Given the description of an element on the screen output the (x, y) to click on. 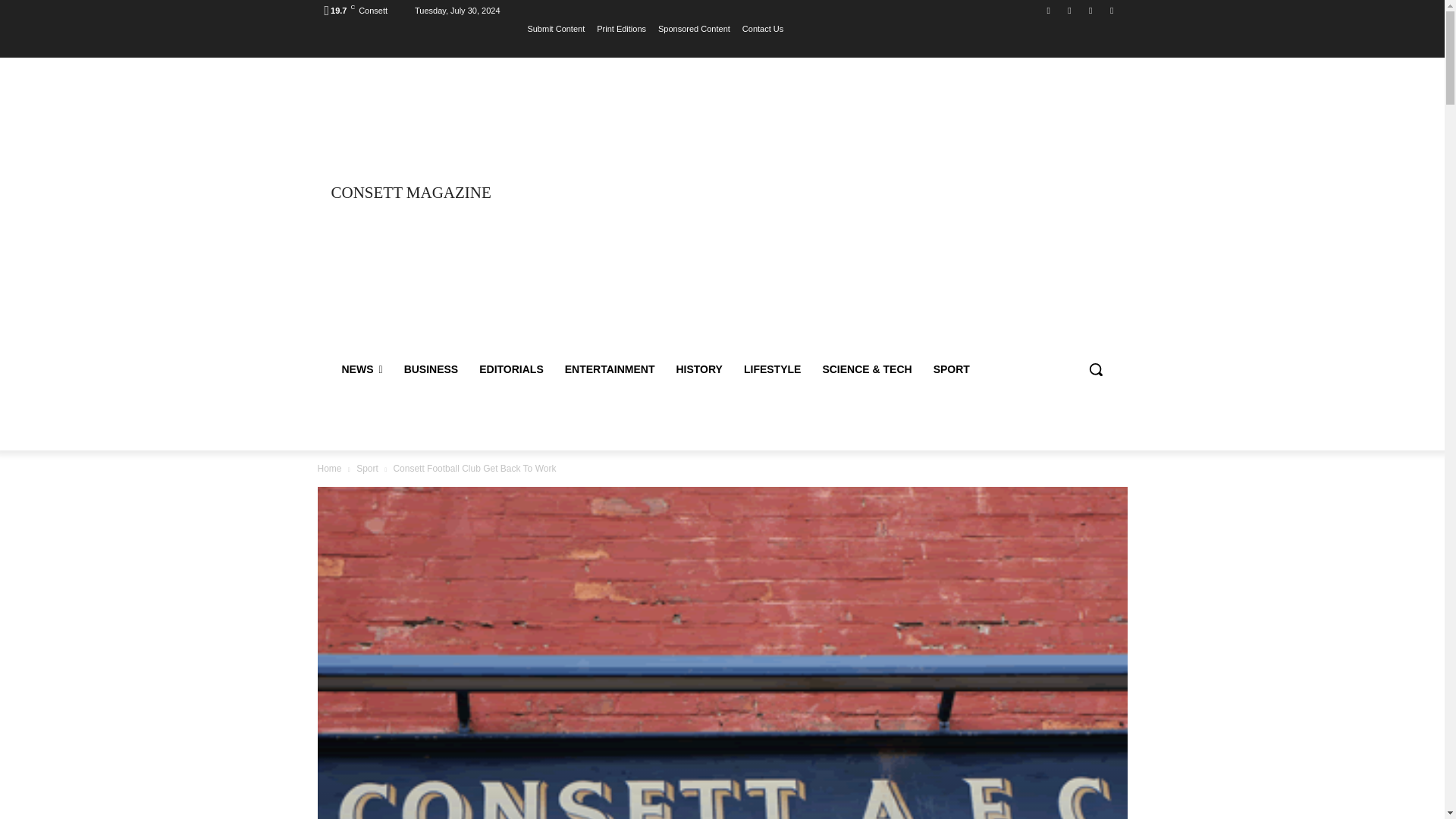
Contact Us (762, 28)
LIFESTYLE (771, 369)
Facebook (1048, 9)
Magazine for Consett, Co.Durham (435, 192)
ENTERTAINMENT (609, 369)
Youtube (1112, 9)
Submit Content (556, 28)
CONSETT MAGAZINE (435, 192)
HISTORY (698, 369)
Advertisement (855, 211)
Twitter (1090, 9)
Print Editions (621, 28)
Sponsored Content (694, 28)
Instagram (1069, 9)
NEWS (361, 369)
